Given the description of an element on the screen output the (x, y) to click on. 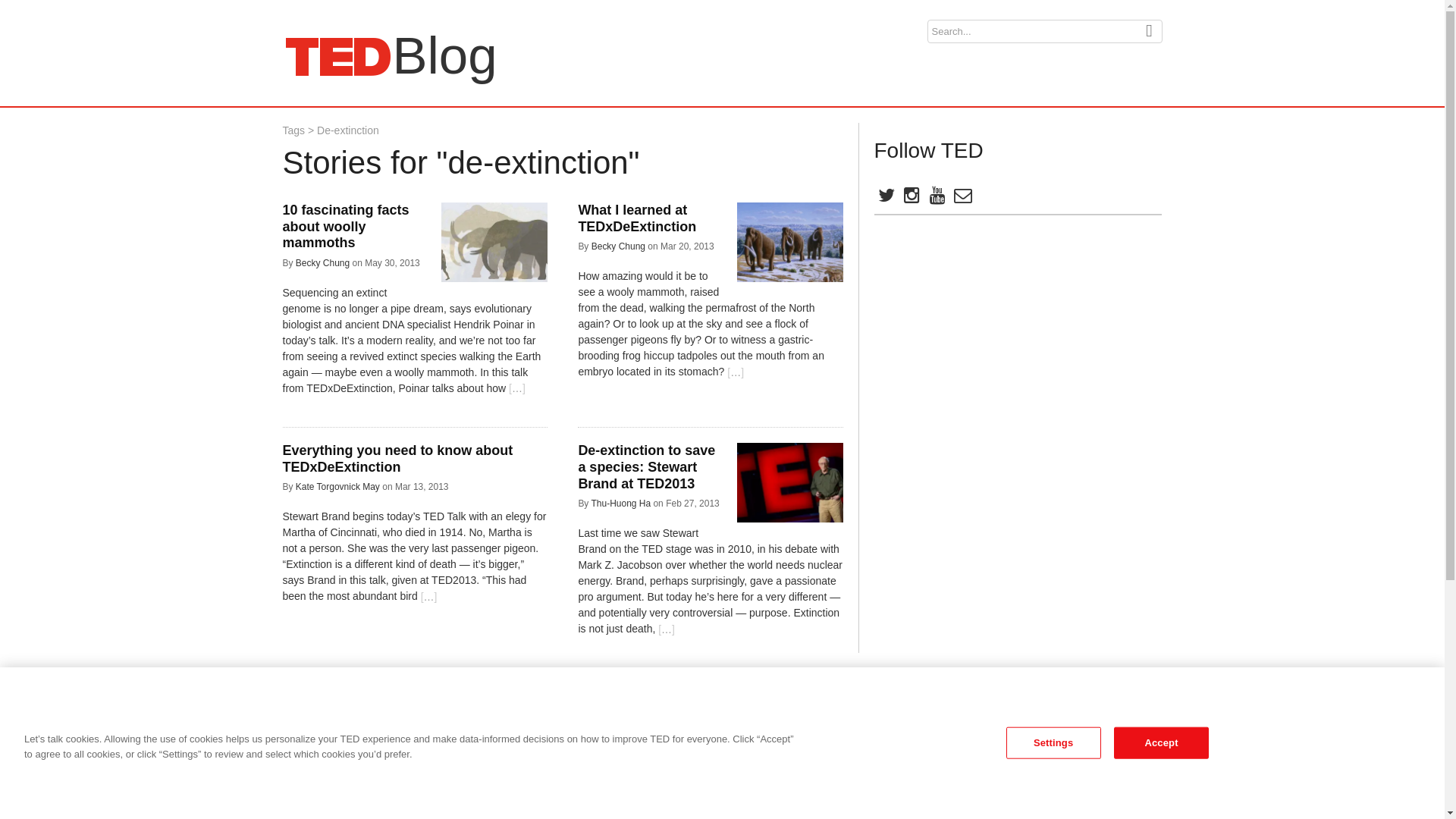
What I learned at TEDxDeExtinction (337, 56)
Read more (636, 218)
Becky Chung (666, 629)
Becky Chung (618, 245)
Settings (322, 262)
10 fascinating facts about woolly mammoths (1053, 743)
Posts by Thu-Huong Ha (345, 226)
De-extinction to save a species: Stewart Brand at TED2013 (620, 502)
Posts by Kate Torgovnick May (646, 466)
Twitter (337, 486)
Posts by Becky Chung (884, 197)
Tags (322, 262)
Thu-Huong Ha (293, 130)
Kate Torgovnick May (620, 502)
